Given the description of an element on the screen output the (x, y) to click on. 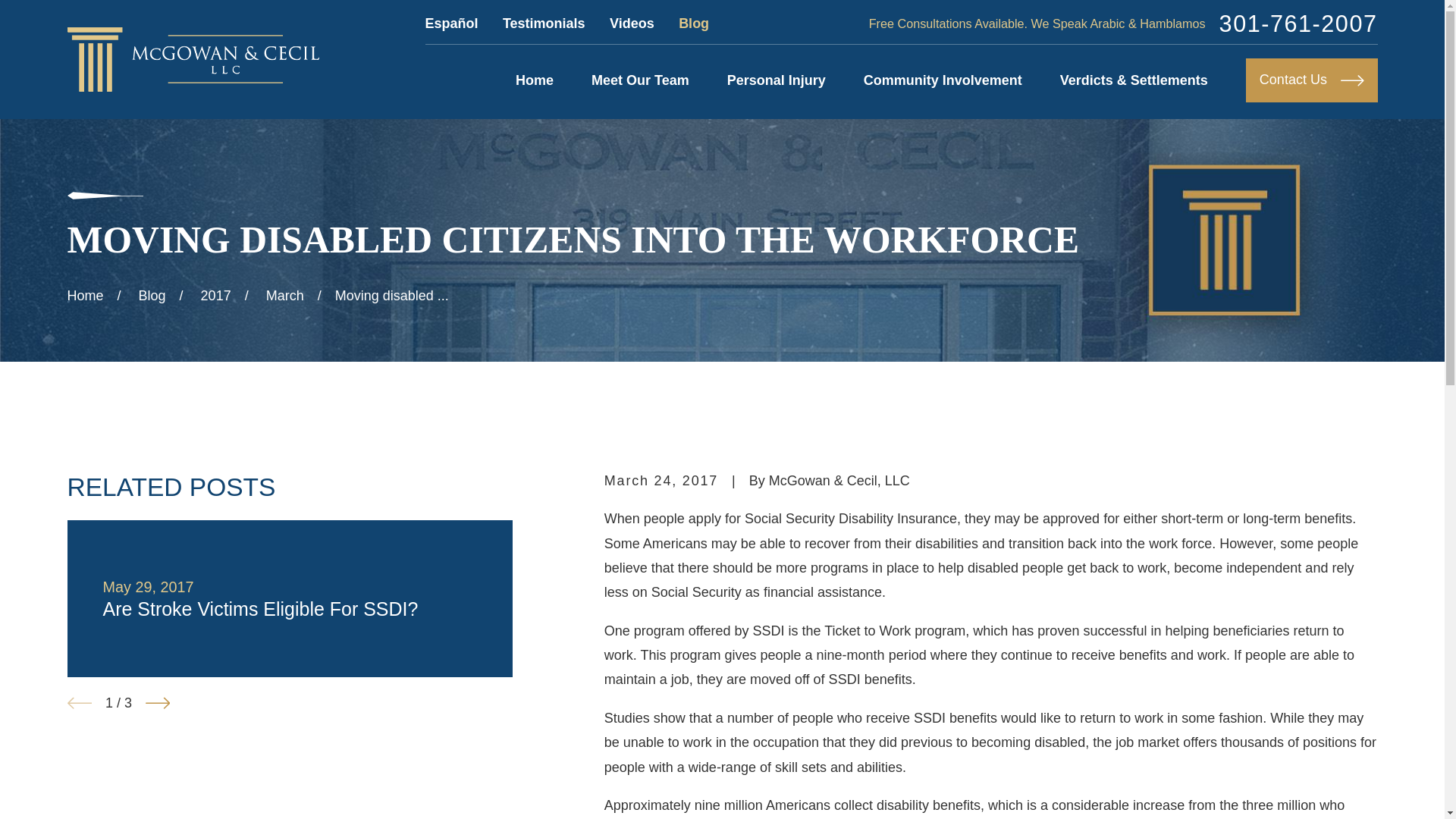
Personal Injury (775, 80)
Videos (631, 23)
View previous item (78, 702)
Home (534, 80)
Blog (693, 23)
Home (192, 59)
Meet Our Team (639, 80)
Go Home (84, 295)
301-761-2007 (1298, 24)
View next item (157, 702)
Testimonials (543, 23)
